Given the description of an element on the screen output the (x, y) to click on. 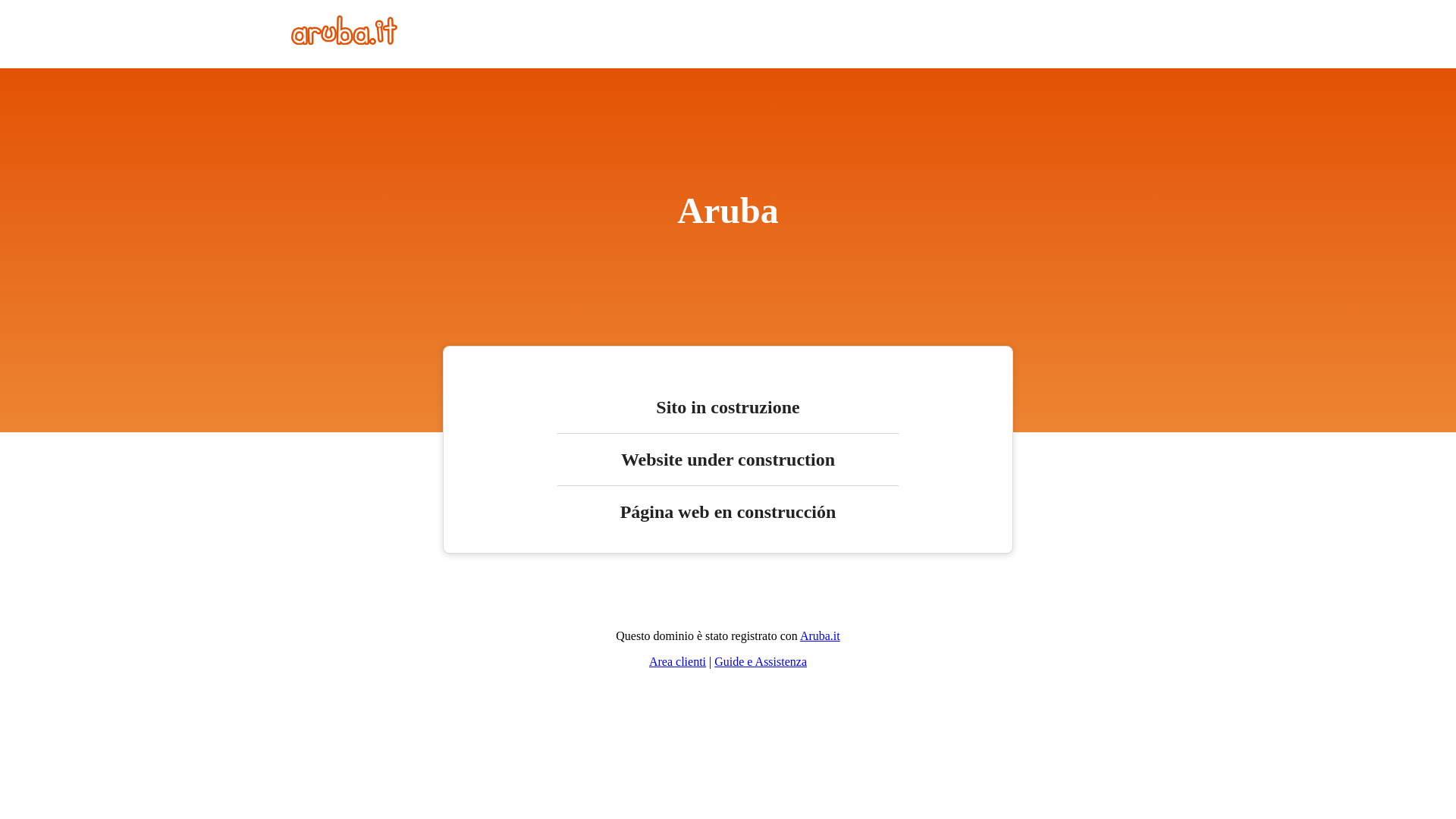
Guide e Assistenza Element type: text (760, 661)
Area clienti Element type: text (677, 661)
Home Element type: hover (344, 40)
Aruba.it Element type: text (820, 635)
